Given the description of an element on the screen output the (x, y) to click on. 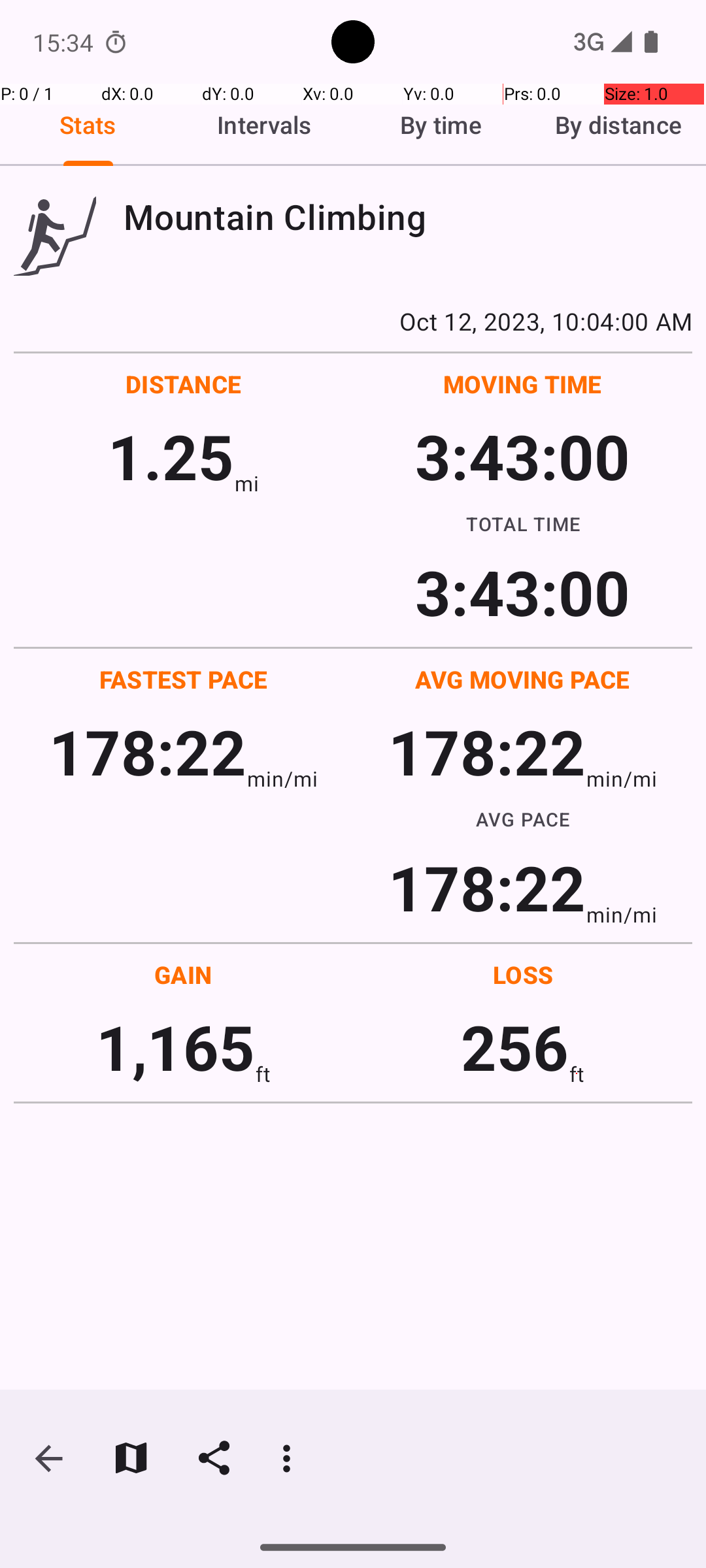
Mountain Climbing Element type: android.widget.TextView (407, 216)
Oct 12, 2023, 10:04:00 AM Element type: android.widget.TextView (352, 320)
1.25 Element type: android.widget.TextView (170, 455)
3:43:00 Element type: android.widget.TextView (522, 455)
178:22 Element type: android.widget.TextView (147, 750)
1,165 Element type: android.widget.TextView (175, 1045)
256 Element type: android.widget.TextView (514, 1045)
